Given the description of an element on the screen output the (x, y) to click on. 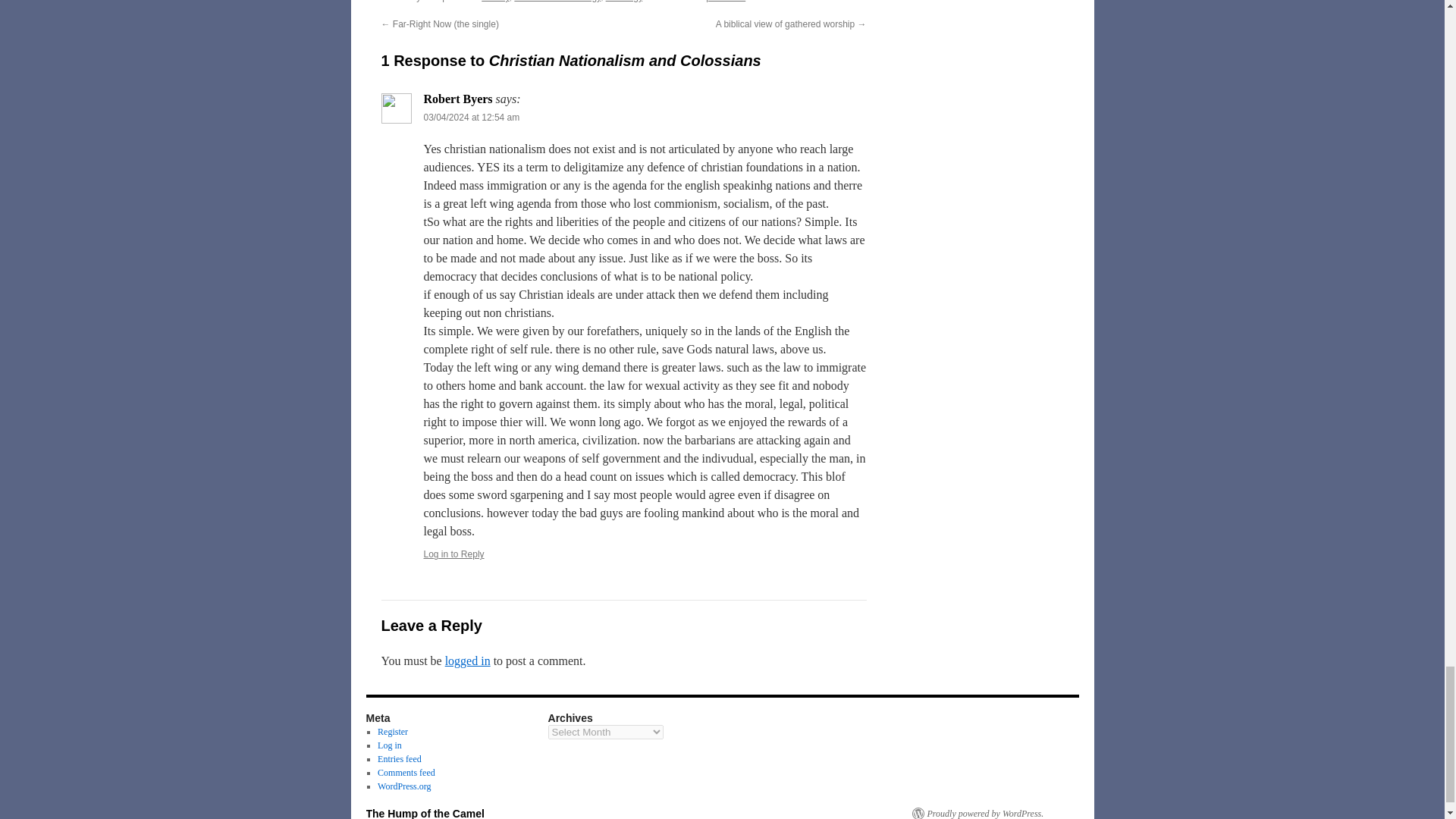
History (494, 1)
Theology (623, 1)
permalink (725, 1)
Log in to Reply (453, 553)
logged in (467, 660)
Politics and sociology (556, 1)
Permalink to Christian Nationalism and Colossians (725, 1)
